Given the description of an element on the screen output the (x, y) to click on. 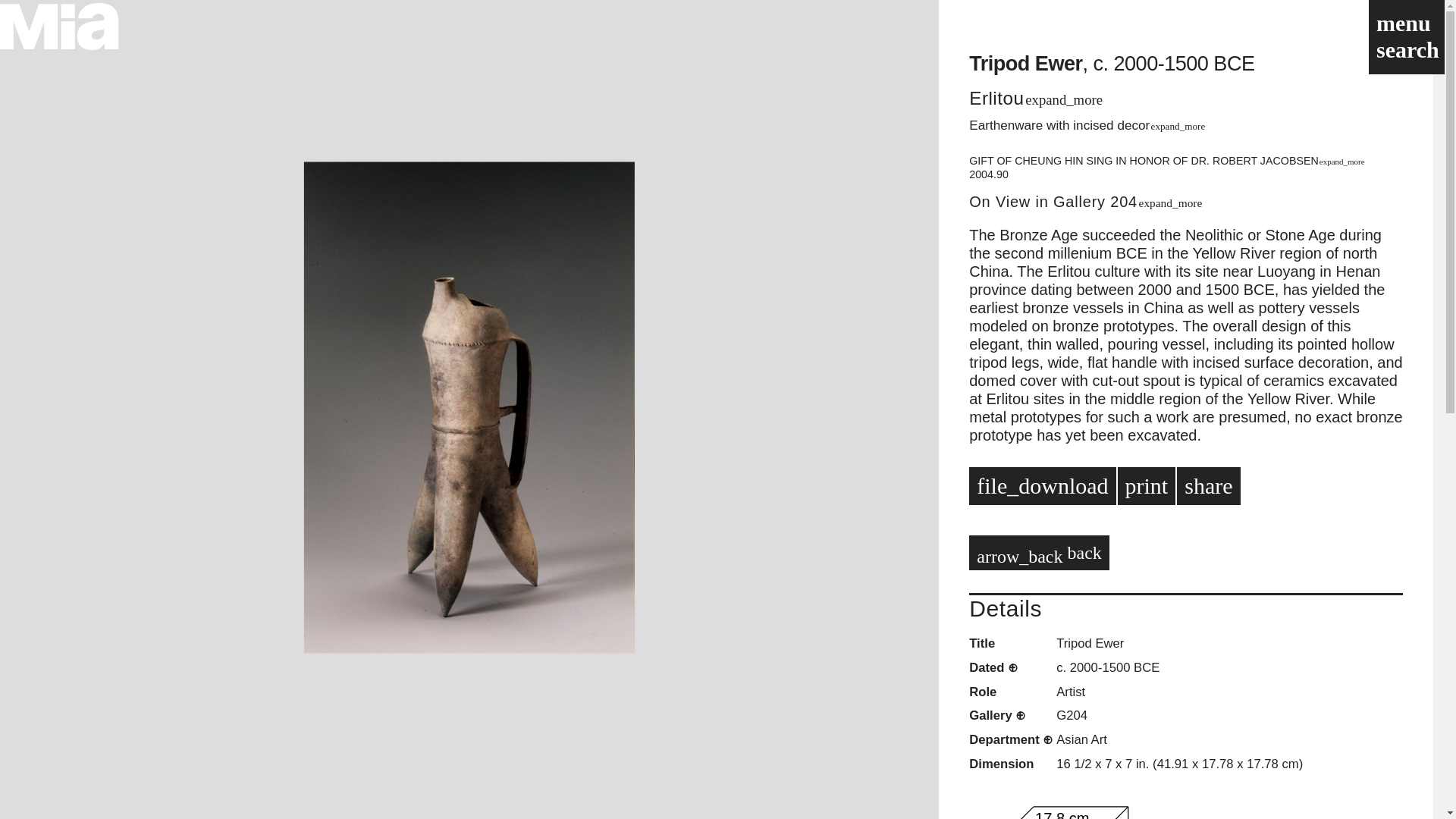
search (1403, 48)
menu (1399, 22)
